Given the description of an element on the screen output the (x, y) to click on. 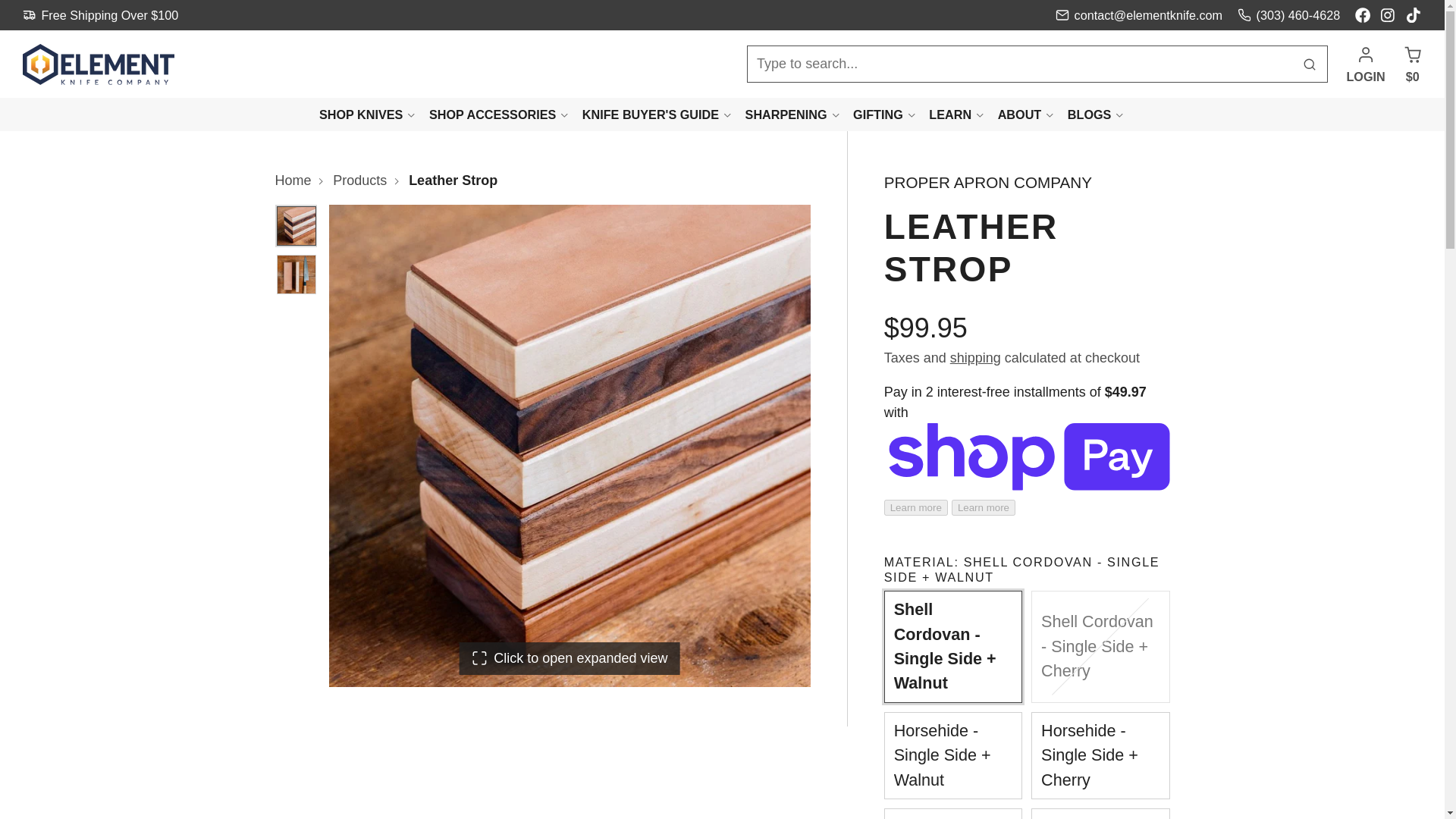
Facebook (1362, 14)
Account (1364, 63)
Instagram (1388, 14)
TikTok (1414, 14)
